Given the description of an element on the screen output the (x, y) to click on. 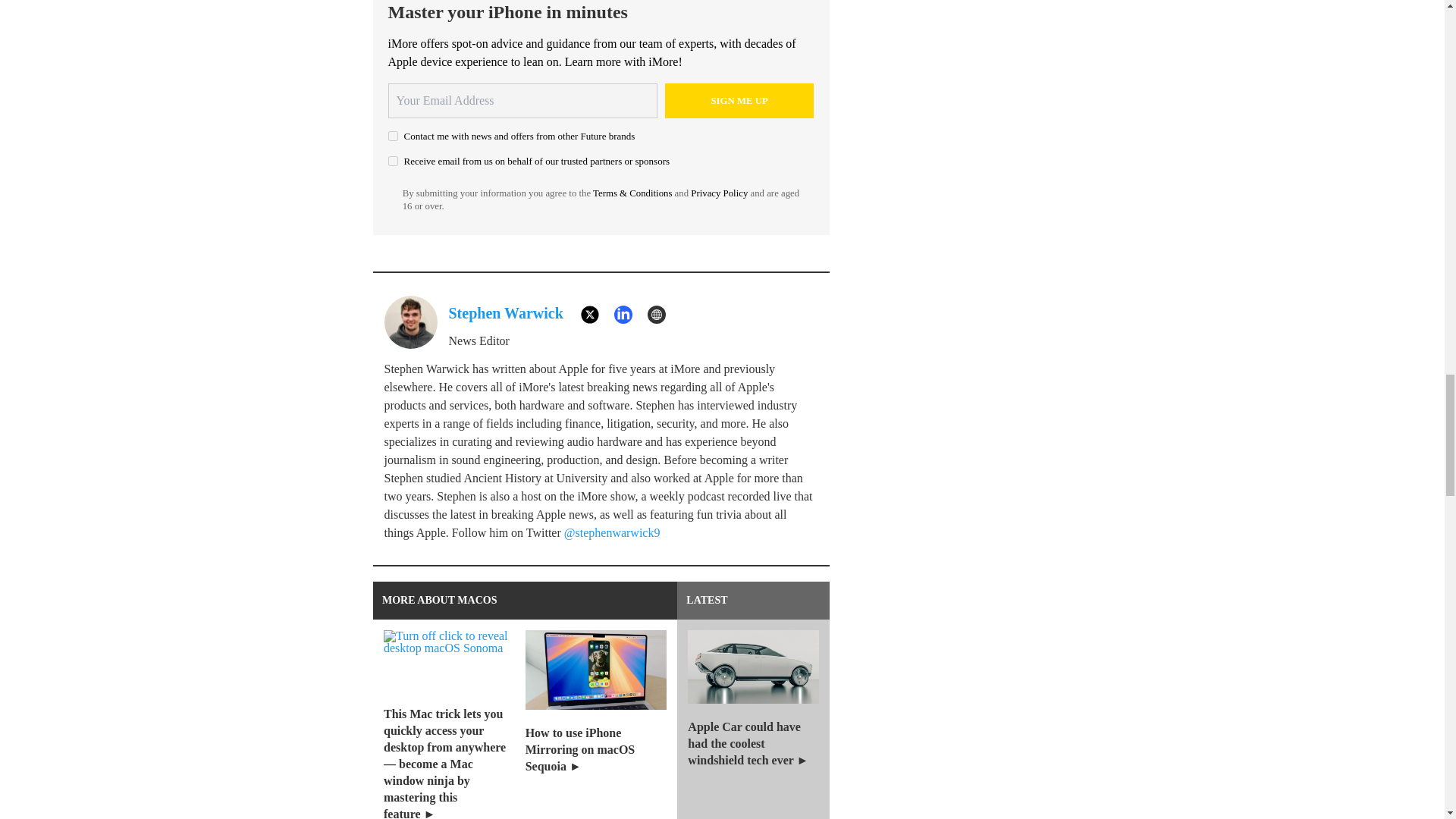
Sign me up (739, 100)
on (392, 161)
on (392, 135)
